Given the description of an element on the screen output the (x, y) to click on. 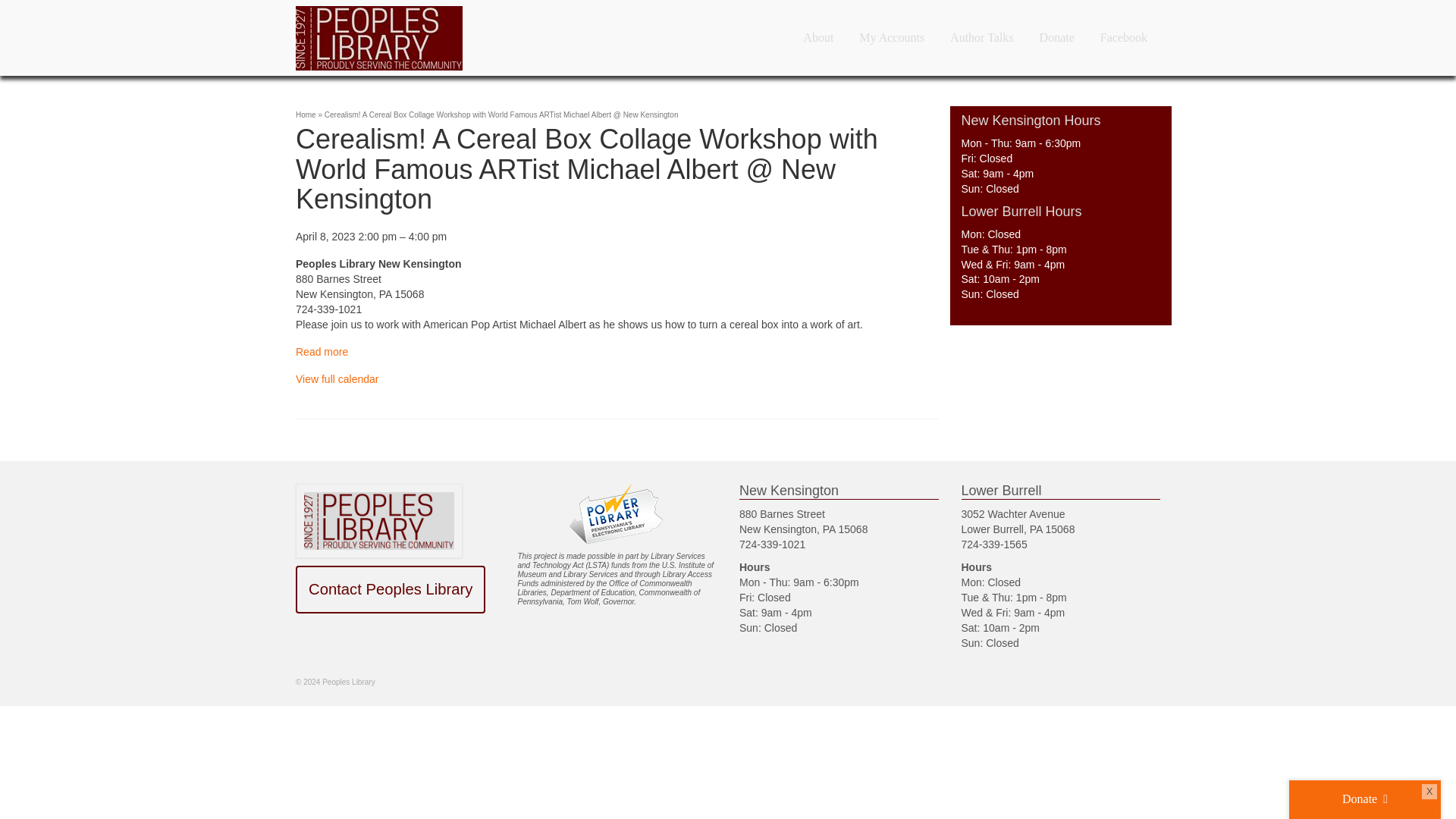
Facebook (1123, 38)
Author Talks (981, 38)
Peoples Library (432, 38)
Contact Peoples Library (389, 589)
View full calendar (336, 378)
Home (305, 114)
Read more (321, 351)
My Accounts (891, 38)
